Given the description of an element on the screen output the (x, y) to click on. 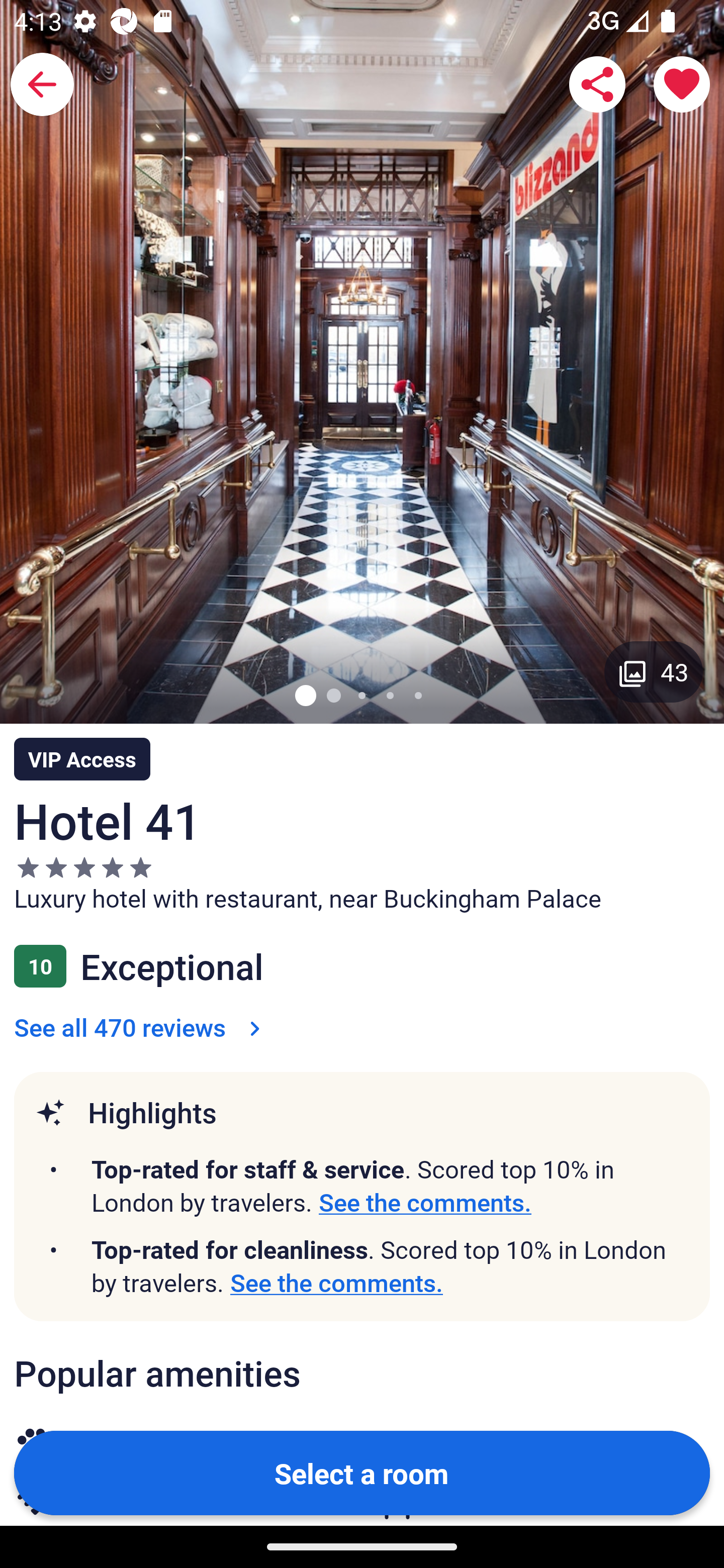
Back (42, 84)
Share Hotel 41 (597, 84)
Gallery button with 43 images (653, 671)
See all 470 reviews See all 470 reviews Link (140, 1026)
Select a room Button Select a room (361, 1472)
